Given the description of an element on the screen output the (x, y) to click on. 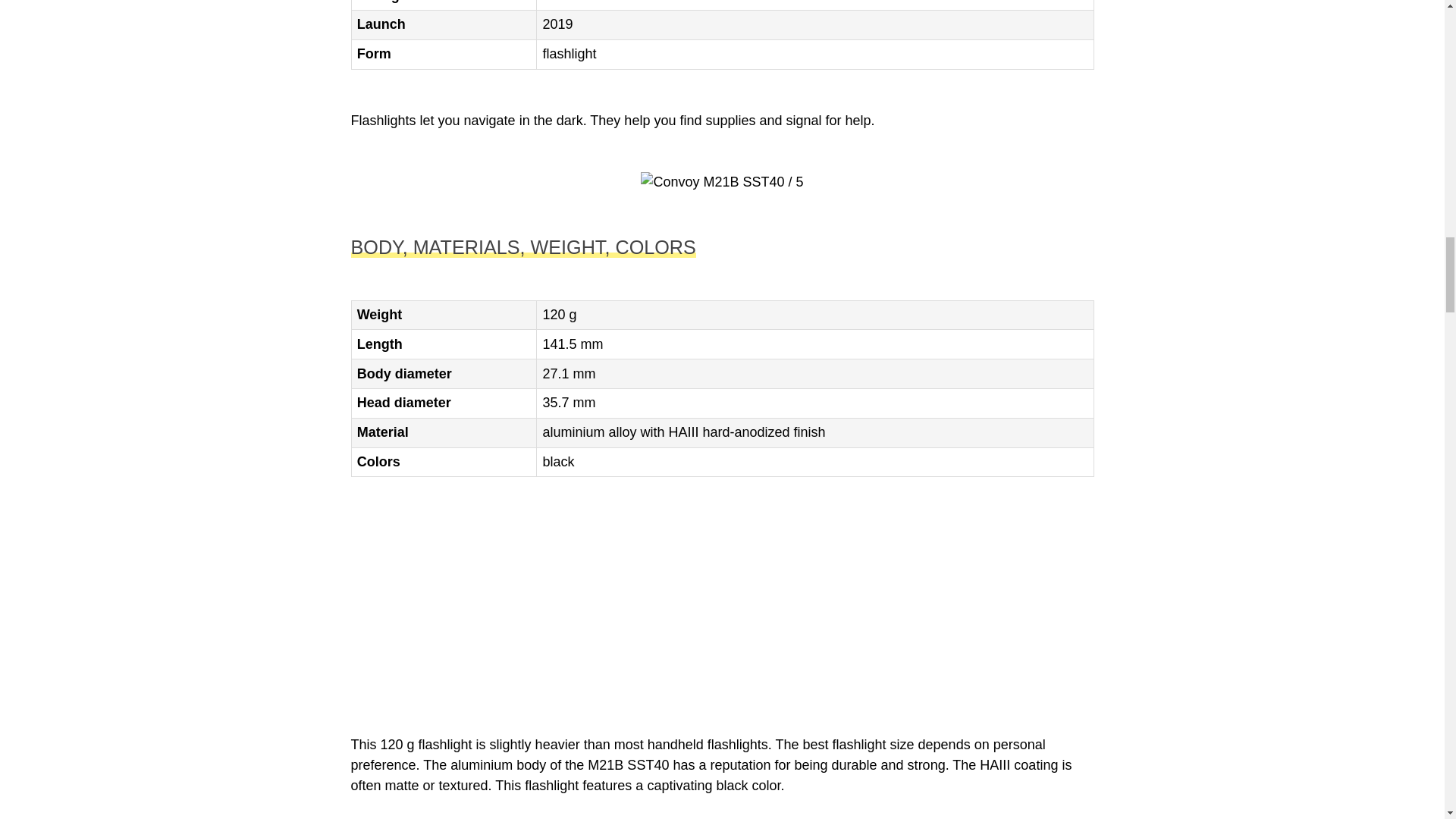
Good (592, 2)
Average (578, 2)
Fair (563, 2)
Excellent (605, 2)
Poor (549, 2)
